Given the description of an element on the screen output the (x, y) to click on. 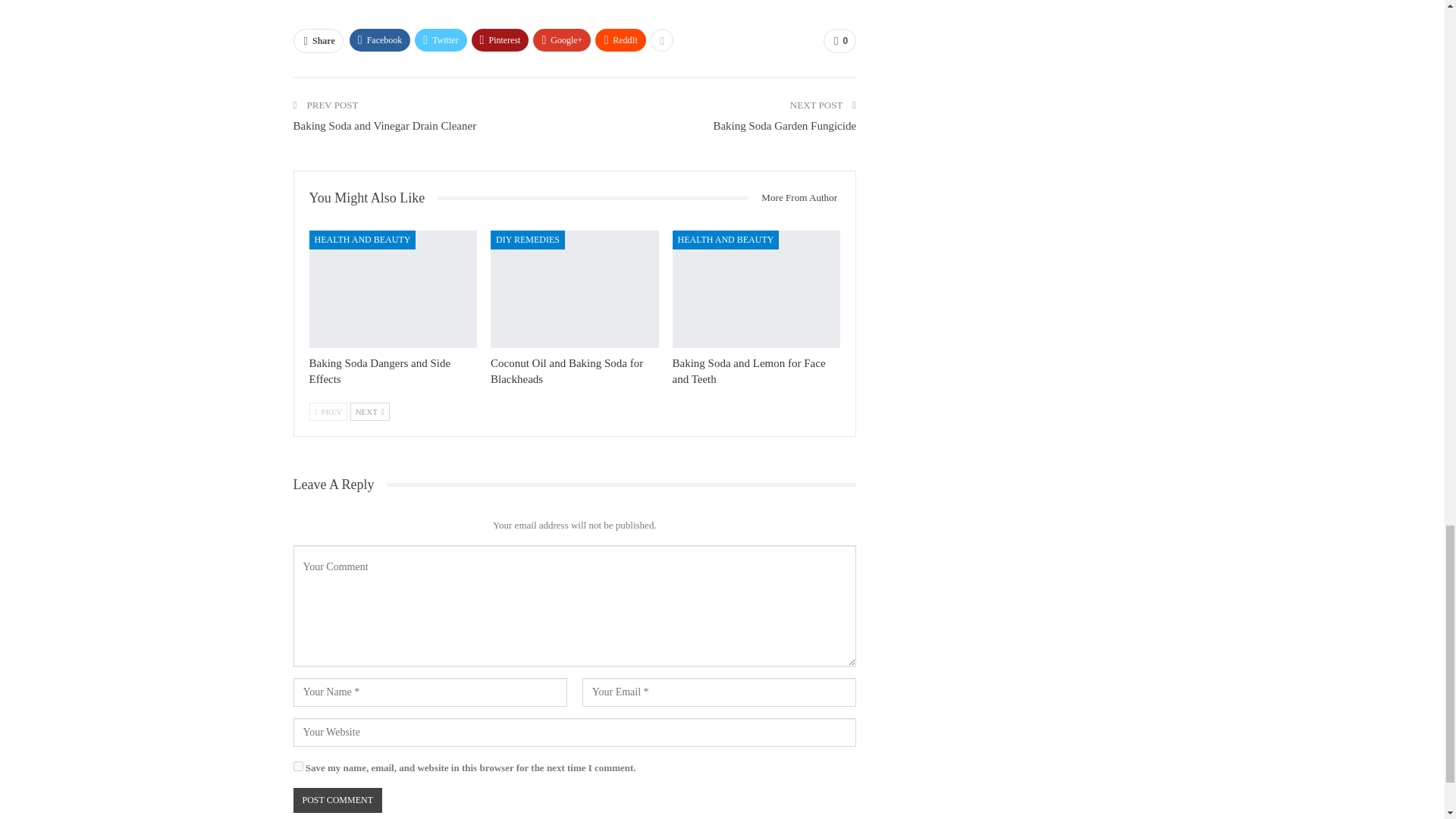
Next (370, 411)
Coconut Oil and Baking Soda for Blackheads (566, 370)
Facebook (379, 39)
yes (297, 766)
Baking Soda and Lemon for Face and Teeth (756, 289)
You Might Also Like (373, 197)
Pinterest (500, 39)
0 (840, 40)
Coconut Oil and Baking Soda for Blackheads (574, 289)
Baking Soda Dangers and Side Effects (379, 370)
